Given the description of an element on the screen output the (x, y) to click on. 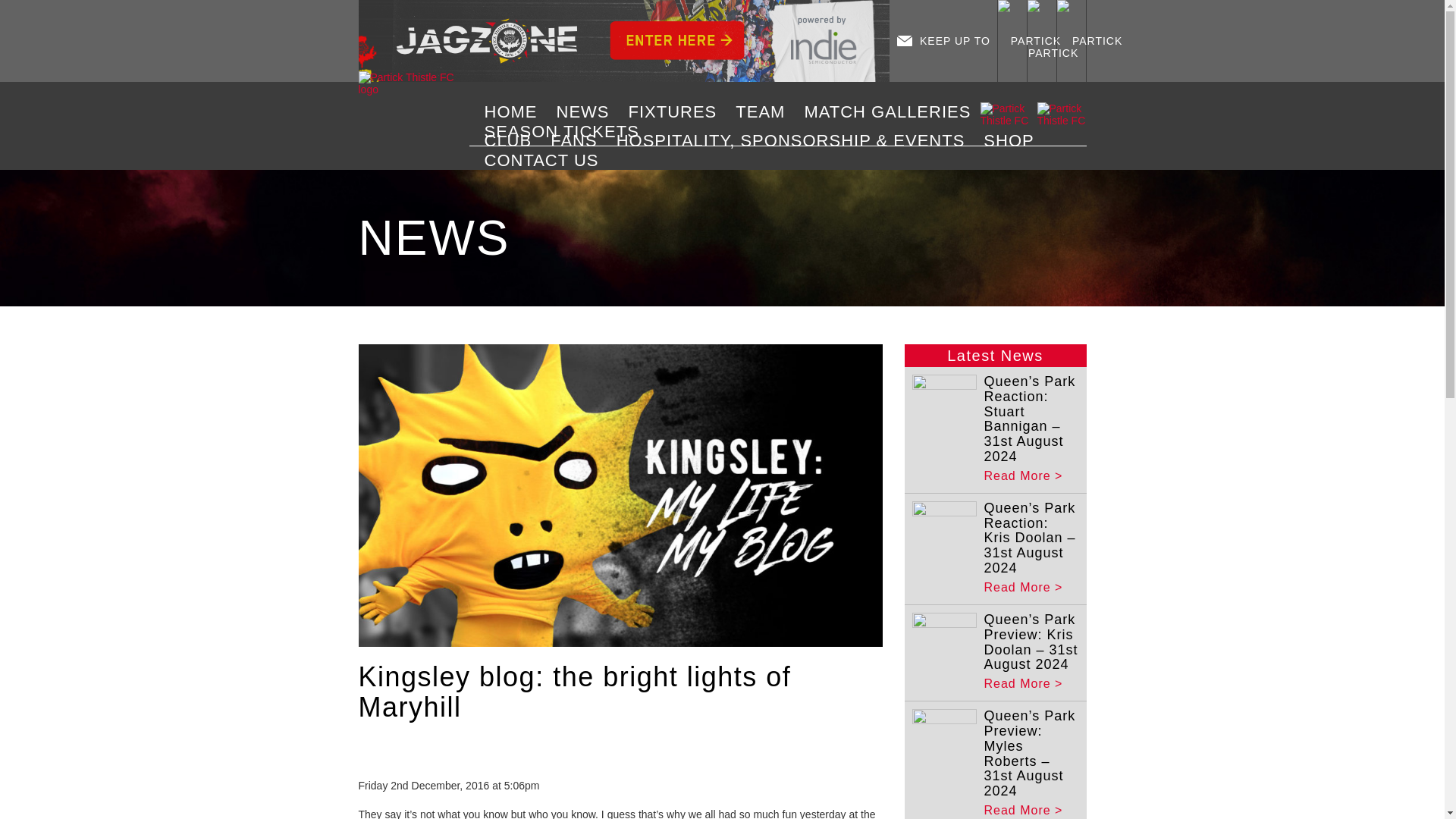
CLUB (513, 140)
FIXTURES (678, 112)
SHOP (1013, 140)
HOME (516, 112)
CONTACT US (547, 160)
MATCH GALLERIES (892, 112)
SEASON TICKETS (566, 131)
FANS (579, 140)
Enter the JAGZONE (623, 40)
